Given the description of an element on the screen output the (x, y) to click on. 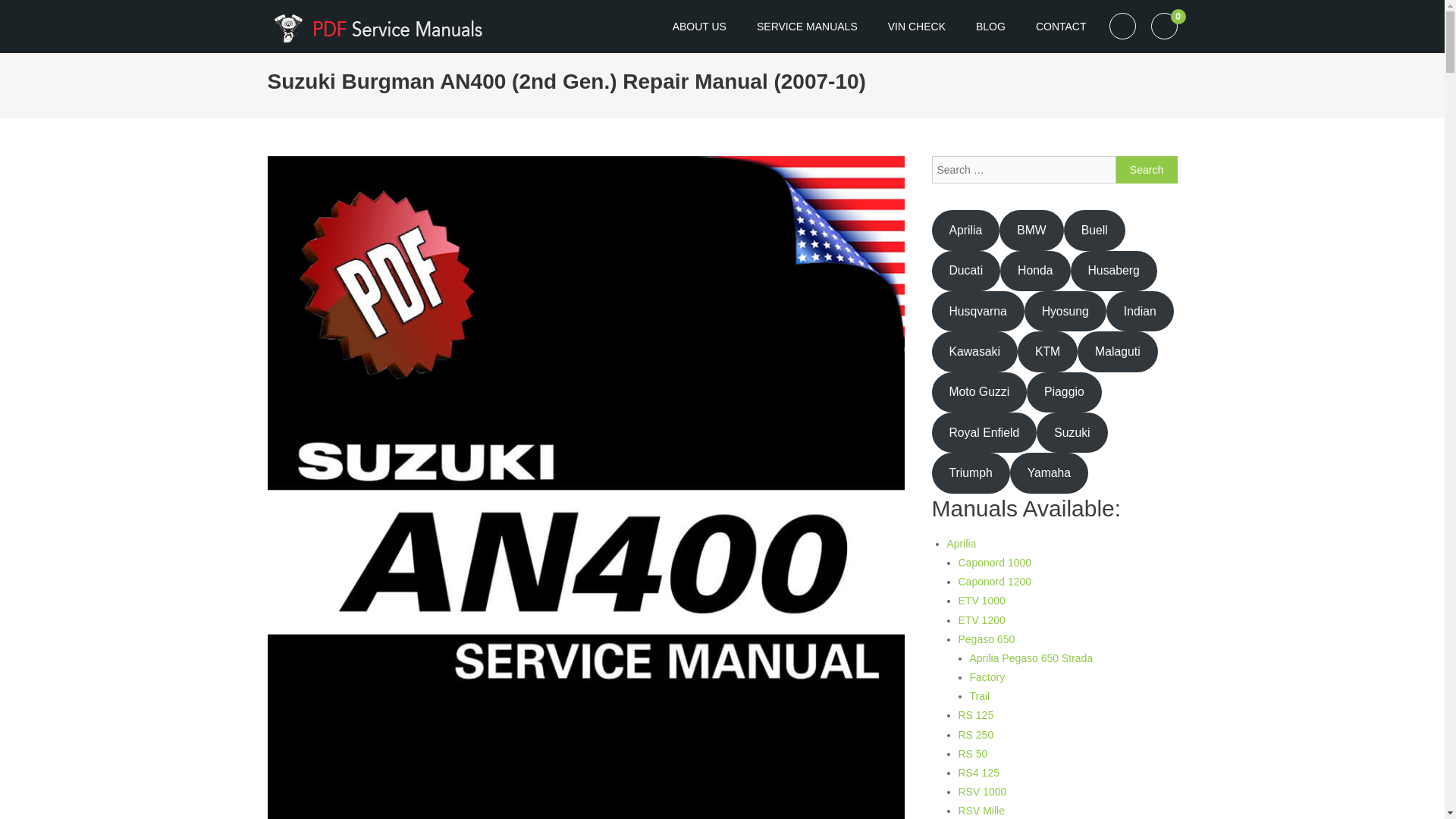
SERVICE MANUALS (806, 26)
Search (1146, 169)
Search (1146, 169)
CONTACT (1061, 26)
0 (1164, 26)
Hyosung (1065, 311)
Husaberg (1113, 270)
ABOUT US (699, 26)
Ducati (965, 270)
BMW (1030, 229)
Husqvarna (977, 311)
Aprilia (964, 229)
